Given the description of an element on the screen output the (x, y) to click on. 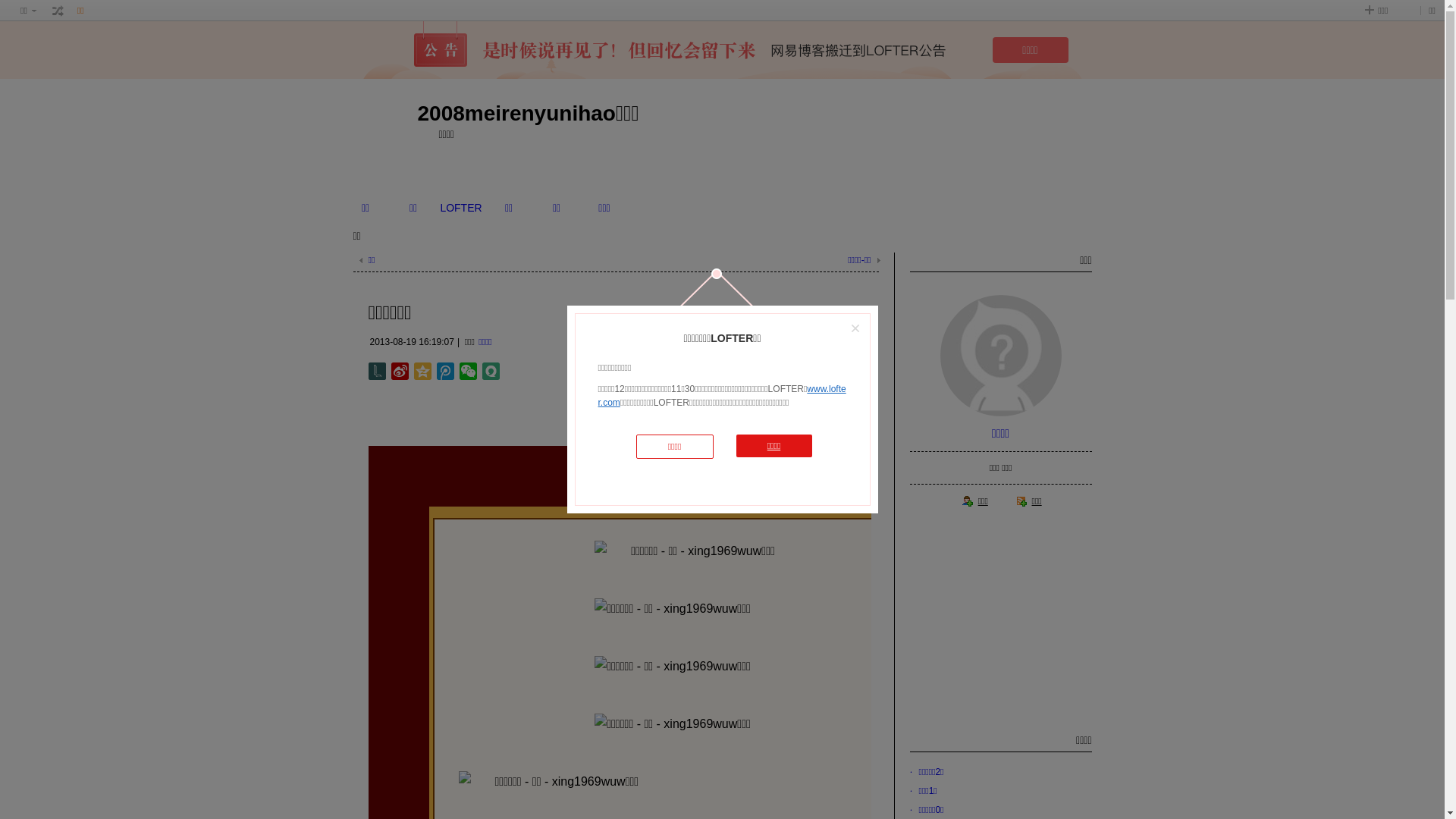
www.lofter.com Element type: text (721, 395)
LOFTER Element type: text (460, 207)
  Element type: text (58, 10)
